Given the description of an element on the screen output the (x, y) to click on. 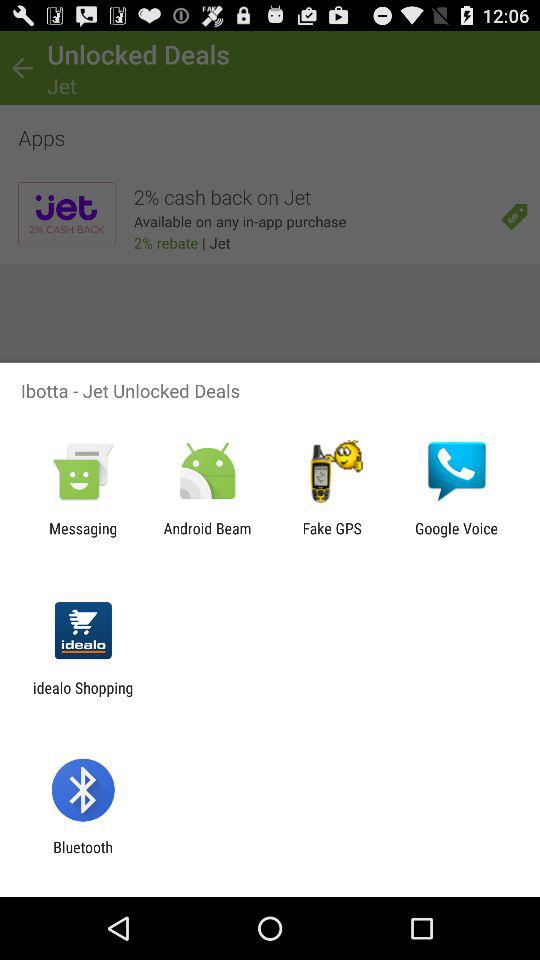
turn on bluetooth (82, 856)
